Given the description of an element on the screen output the (x, y) to click on. 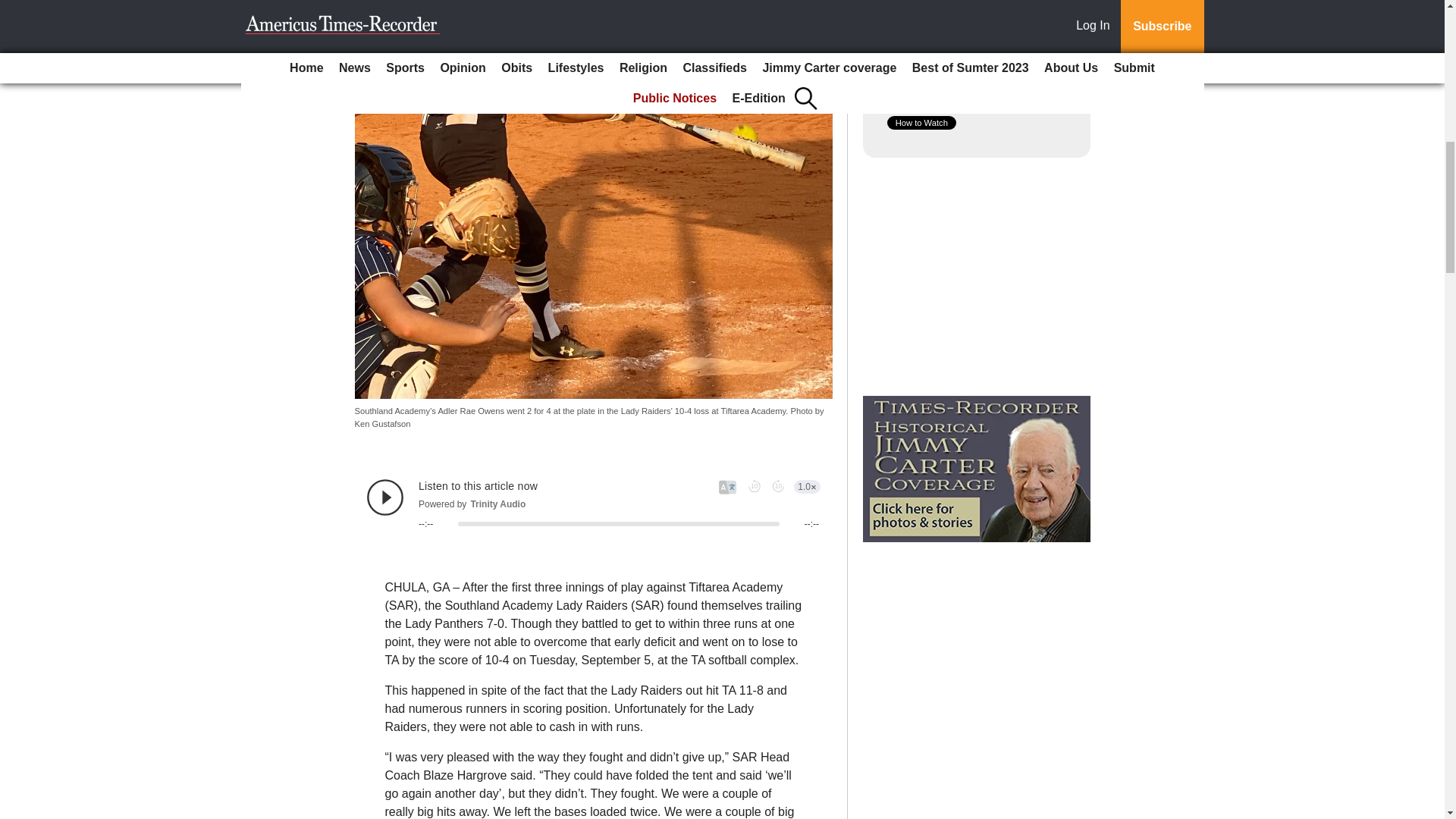
Trinity Audio Player (592, 504)
How to Watch (921, 122)
